Given the description of an element on the screen output the (x, y) to click on. 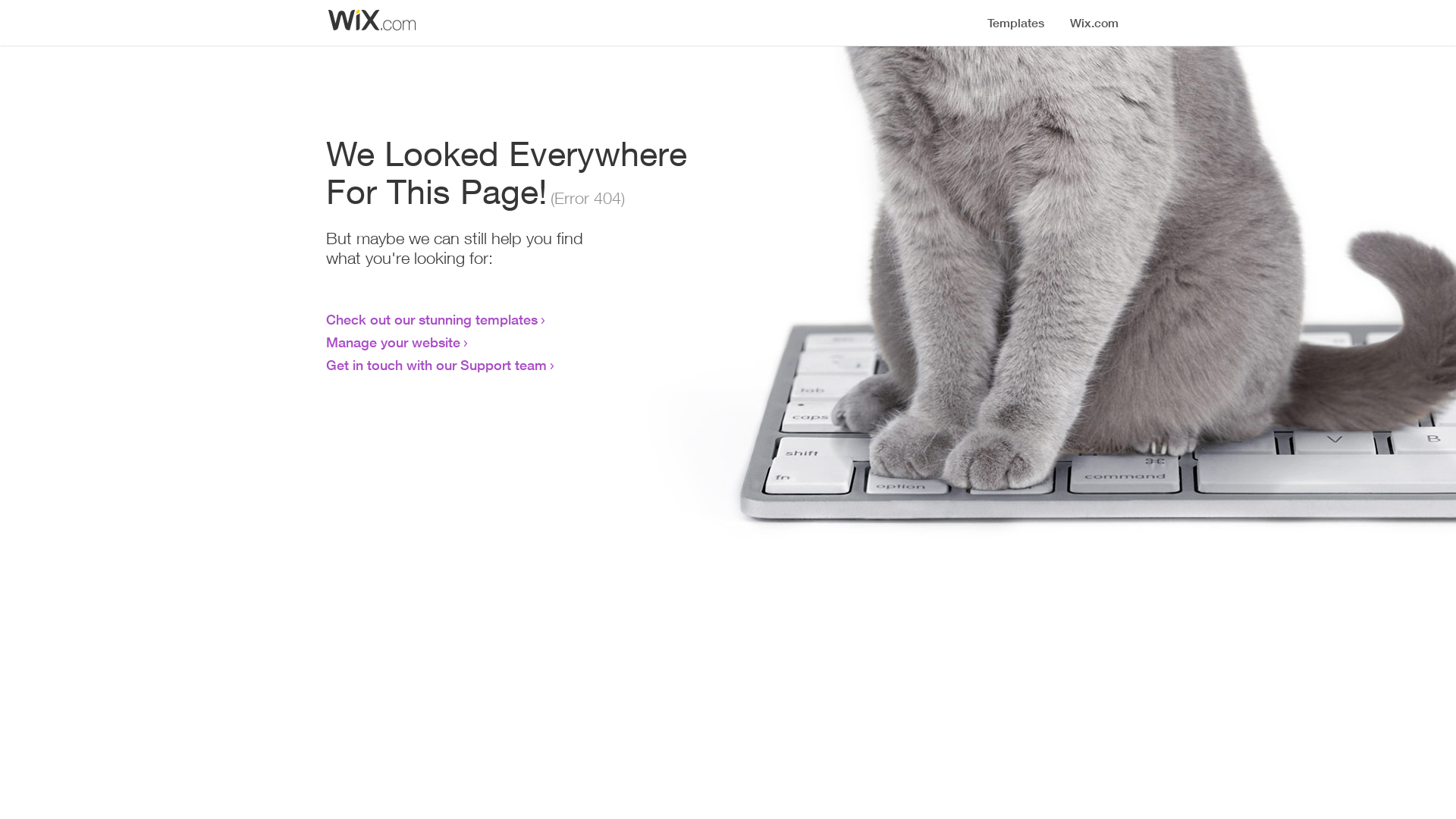
Manage your website Element type: text (393, 341)
Check out our stunning templates Element type: text (431, 318)
Get in touch with our Support team Element type: text (436, 364)
